Given the description of an element on the screen output the (x, y) to click on. 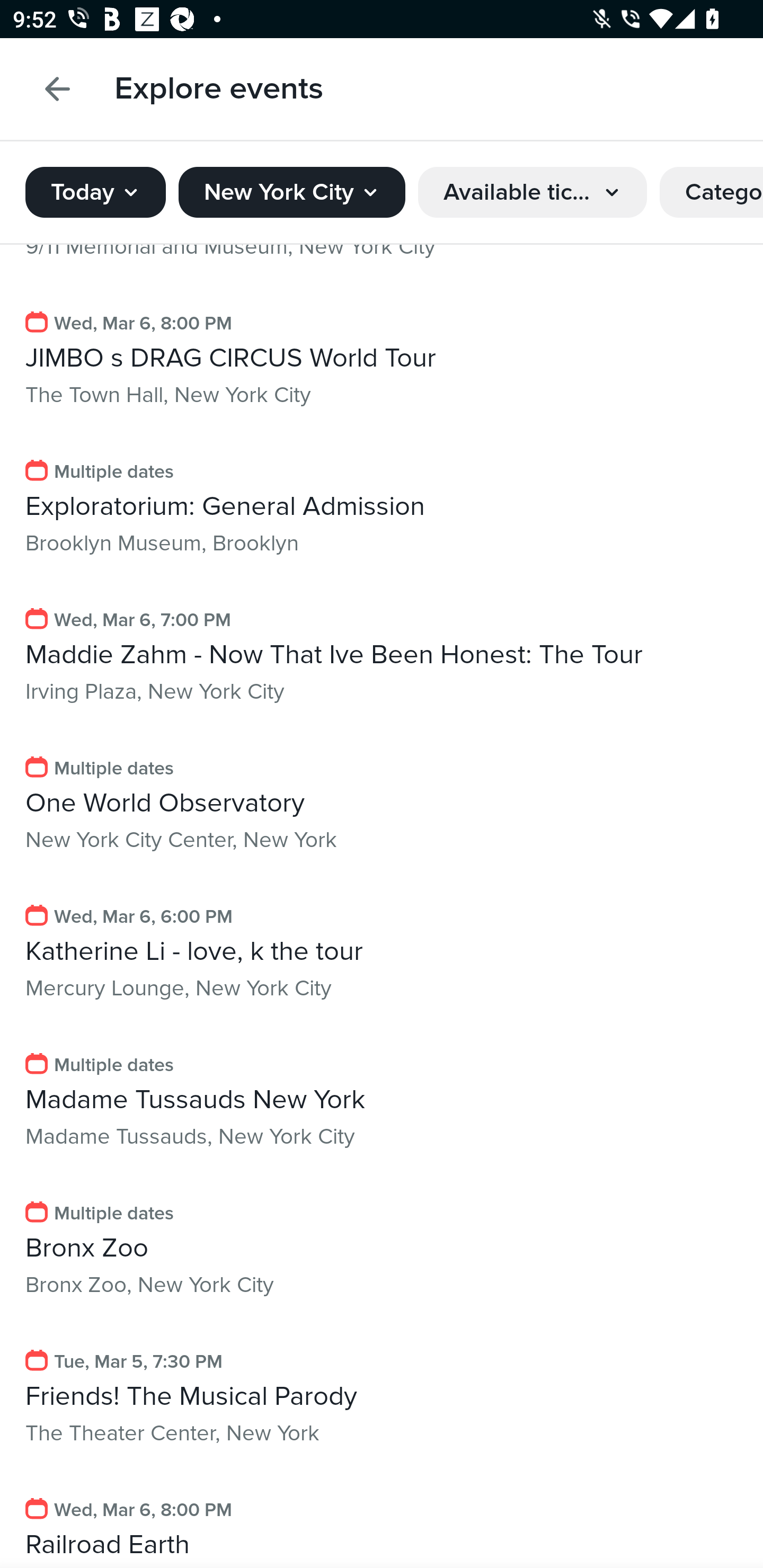
Today (95, 186)
New York City (291, 186)
Available tickets (532, 186)
Multiple dates Bronx Zoo Bronx Zoo, New York City (381, 1250)
Wed, Mar 6, 8:00 PM Railroad Earth (381, 1520)
